Given the description of an element on the screen output the (x, y) to click on. 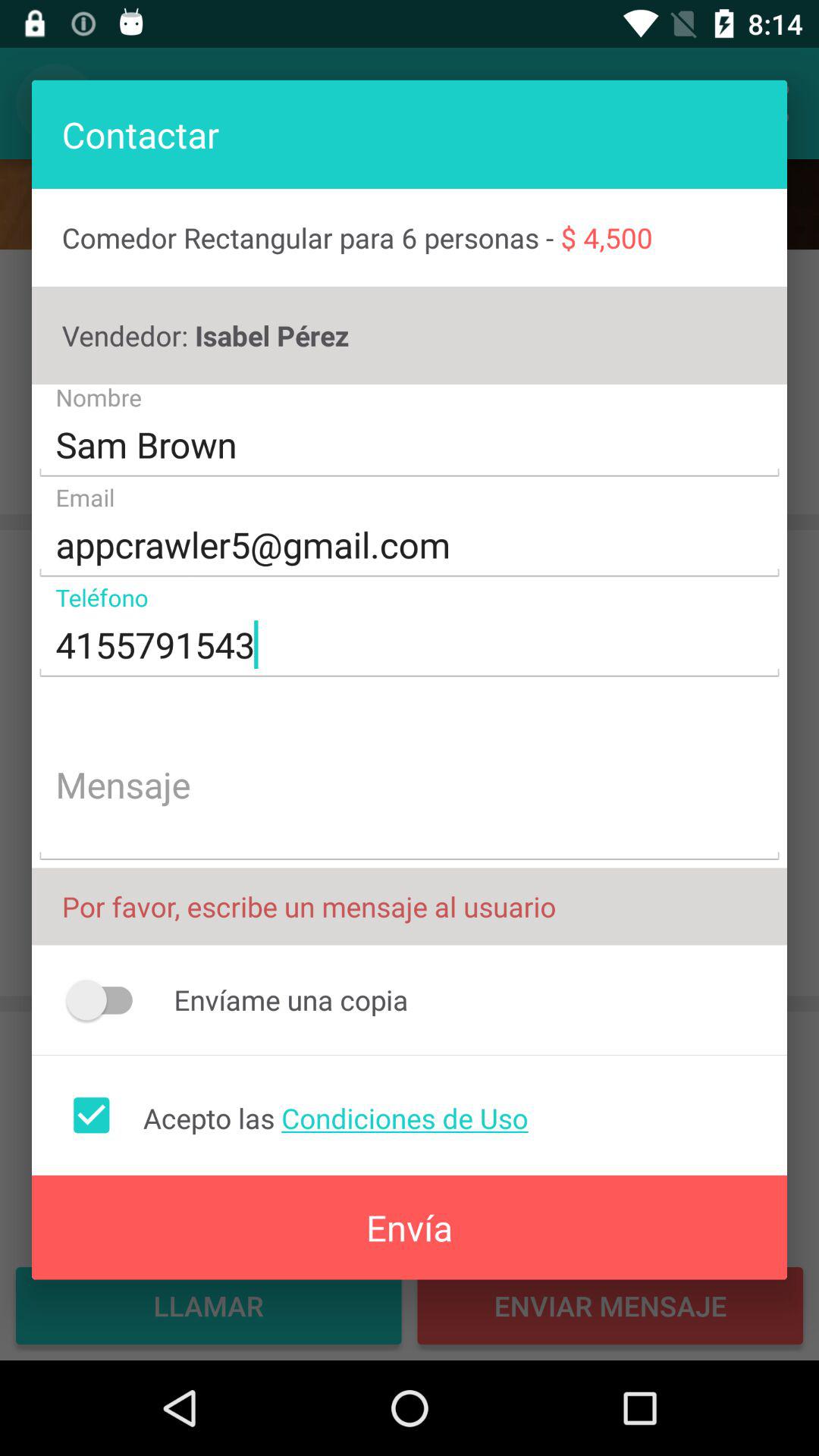
jump until the 4155791543 (409, 645)
